Given the description of an element on the screen output the (x, y) to click on. 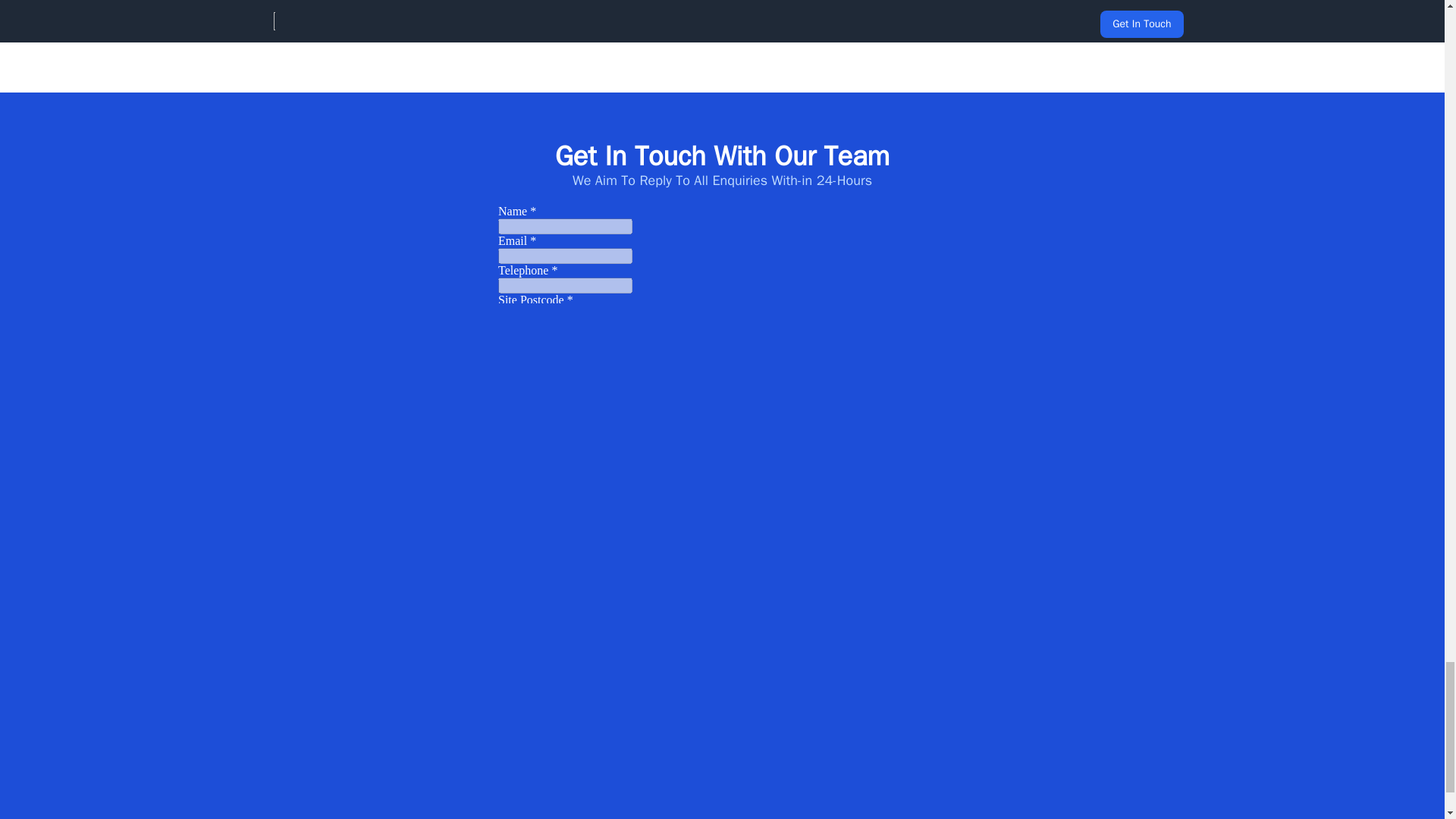
GET A FREE QUOTE (721, 11)
